Given the description of an element on the screen output the (x, y) to click on. 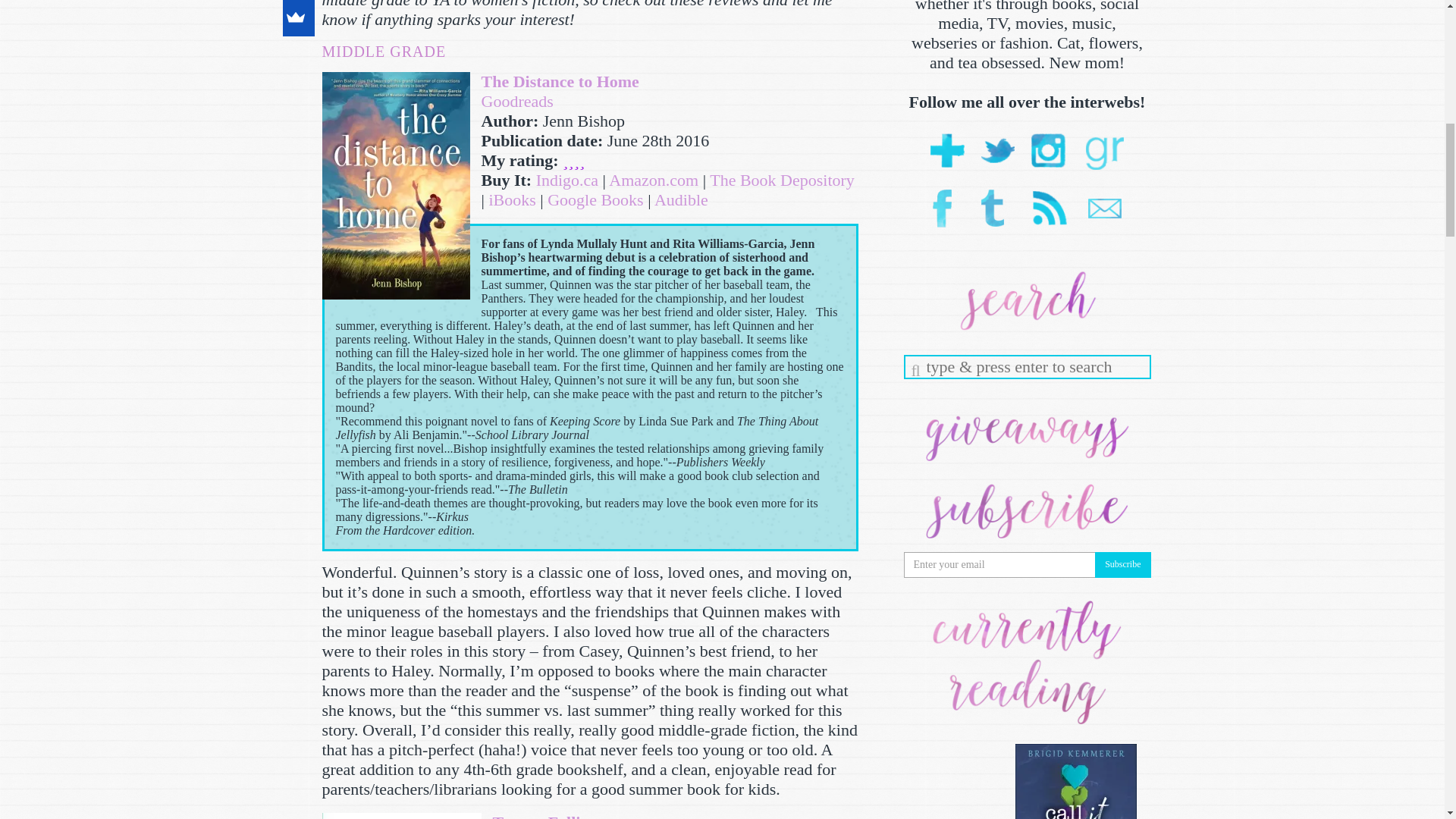
SumoMe (295, 18)
Towers Falling (545, 816)
Indigo.ca (566, 179)
Google Books (595, 199)
Subscribe (1122, 565)
Amazon.com (653, 179)
Audible (680, 199)
Mini-Reviews: June and July 2016 Releases! (400, 816)
Goodreads (516, 100)
iBooks (511, 199)
The Distance to Home (559, 81)
The Book Depository (782, 179)
